Given the description of an element on the screen output the (x, y) to click on. 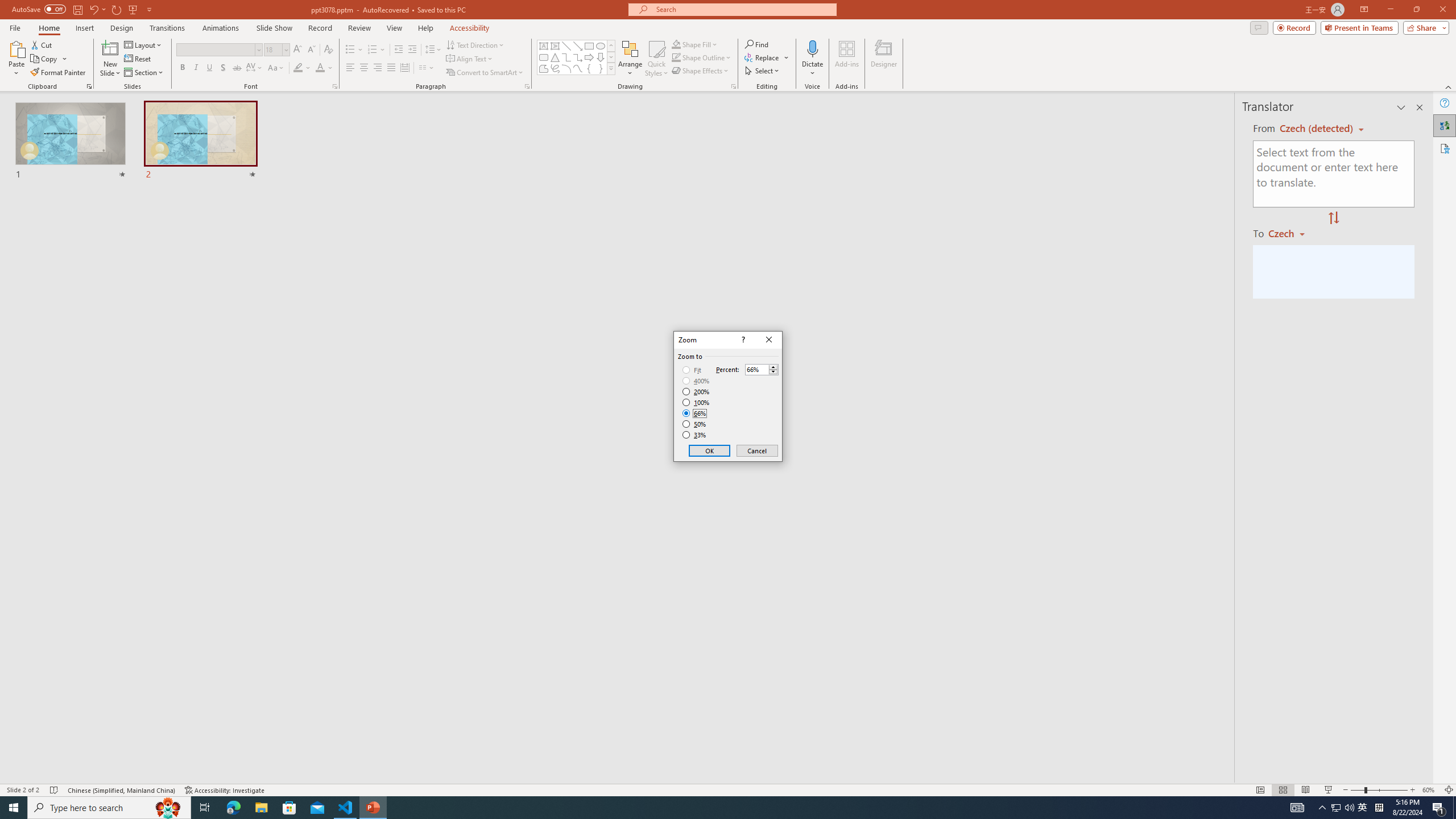
200% (696, 391)
50% (694, 424)
Cancel (756, 450)
